Given the description of an element on the screen output the (x, y) to click on. 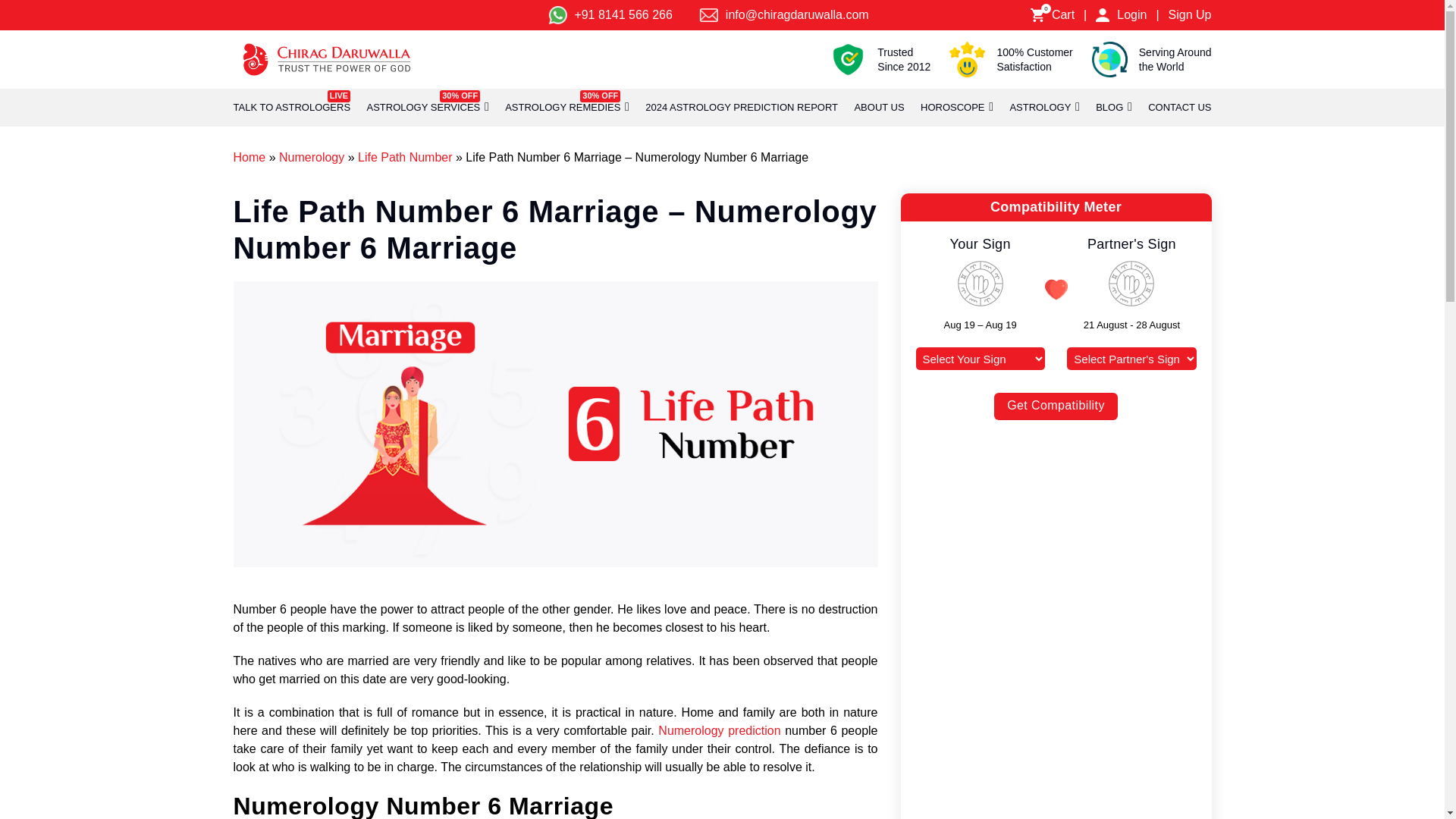
HOROSCOPE (952, 107)
2024 ASTROLOGY PREDICTION REPORT (741, 107)
WhatsApp (557, 14)
Cart (291, 107)
Sign Up (1062, 14)
Cart (1190, 14)
Email (1036, 15)
login (708, 15)
Login (1102, 15)
